Given the description of an element on the screen output the (x, y) to click on. 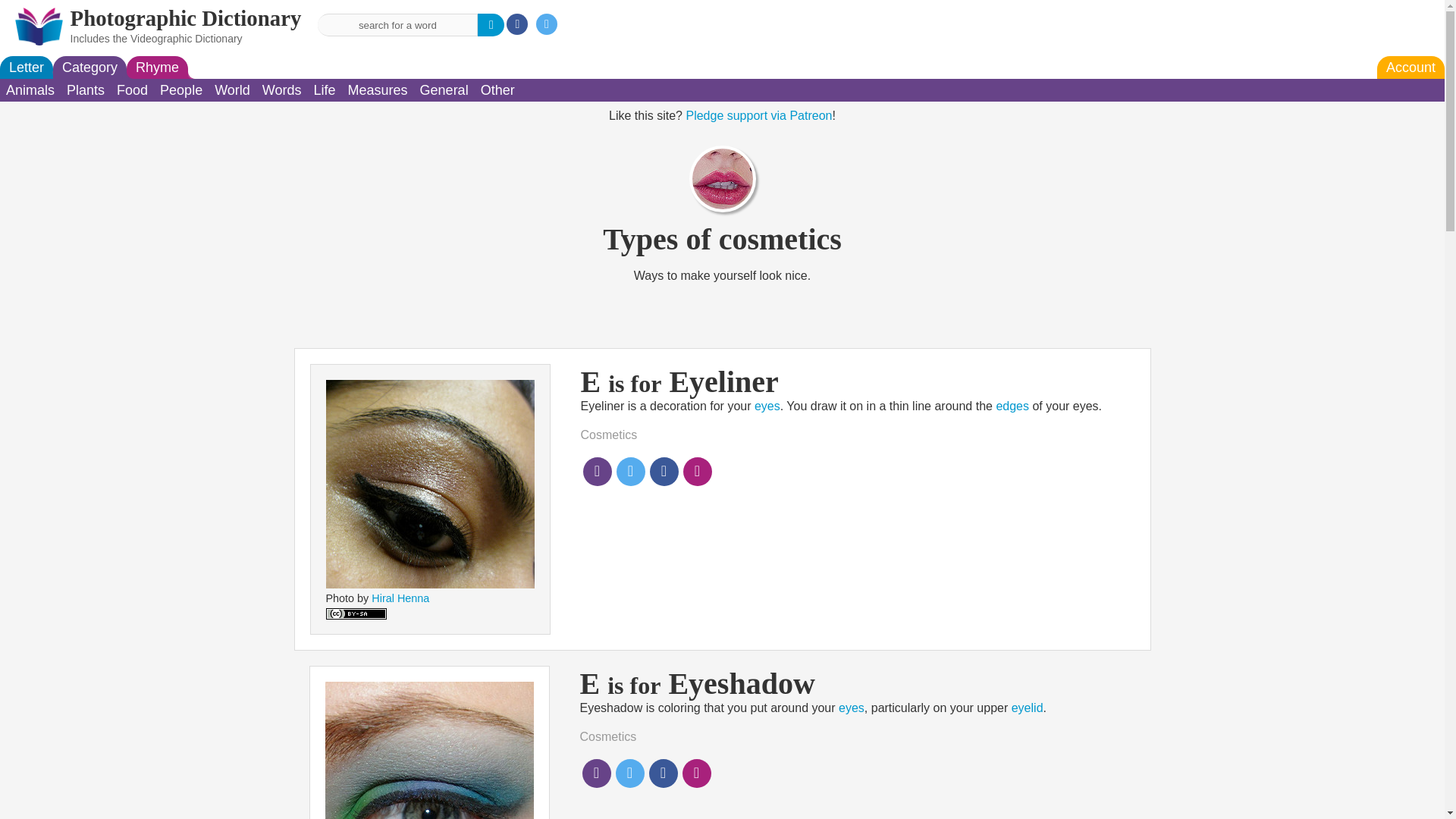
Food (132, 89)
Category (89, 67)
Home (185, 17)
search for a word (397, 24)
Letter (26, 67)
Rhyme (156, 67)
Videographic Dictionary (187, 38)
Animals (30, 89)
Photographic Dictionary (185, 17)
Plants (85, 89)
